Given the description of an element on the screen output the (x, y) to click on. 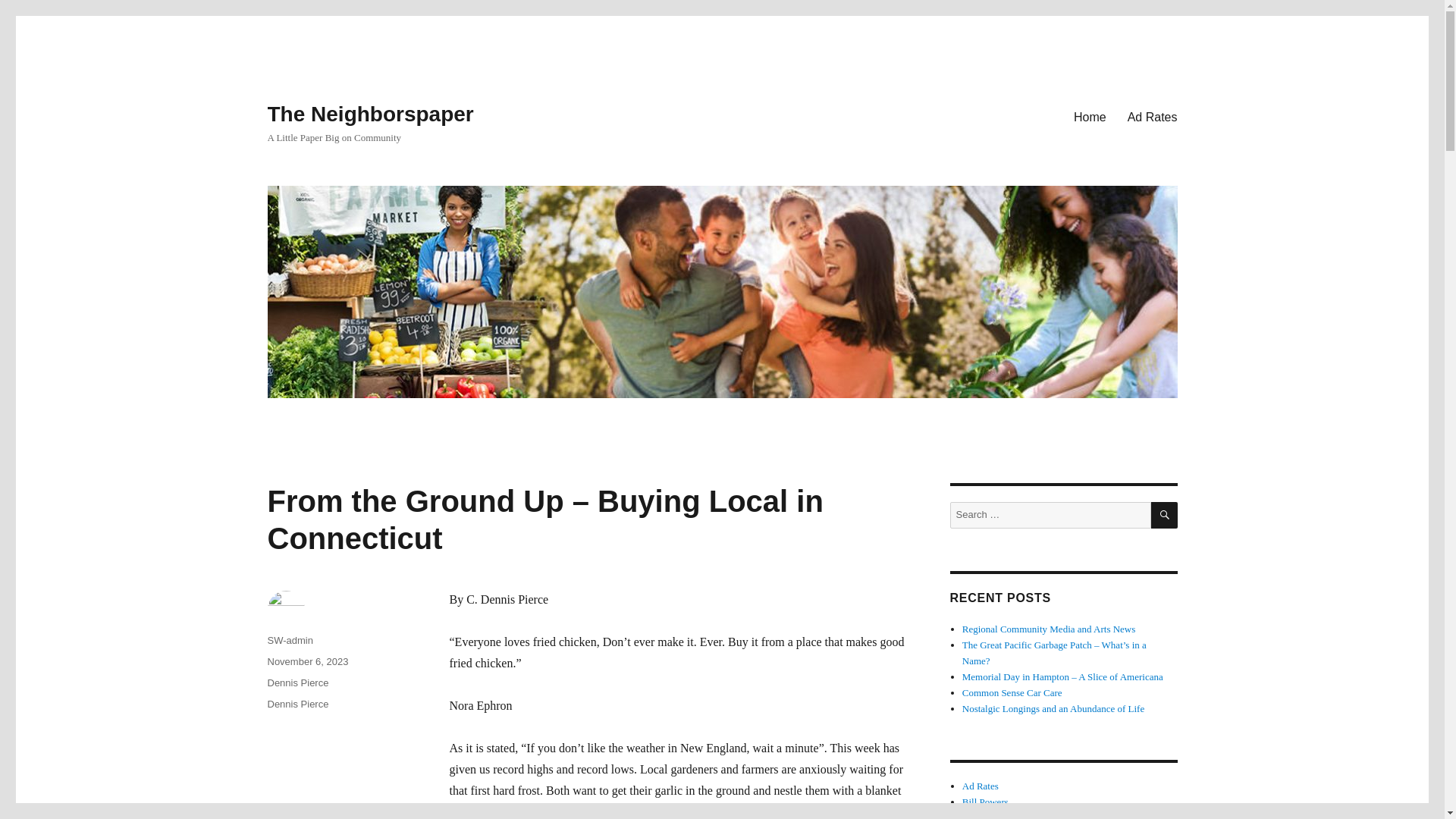
November 6, 2023 (306, 661)
Bob Grindle (986, 815)
Ad Rates (980, 785)
Dennis Pierce (297, 682)
The Neighborspaper (369, 114)
Nostalgic Longings and an Abundance of Life (1053, 708)
Dennis Pierce (297, 704)
Home (1089, 116)
SW-admin (289, 640)
Ad Rates (1152, 116)
